Given the description of an element on the screen output the (x, y) to click on. 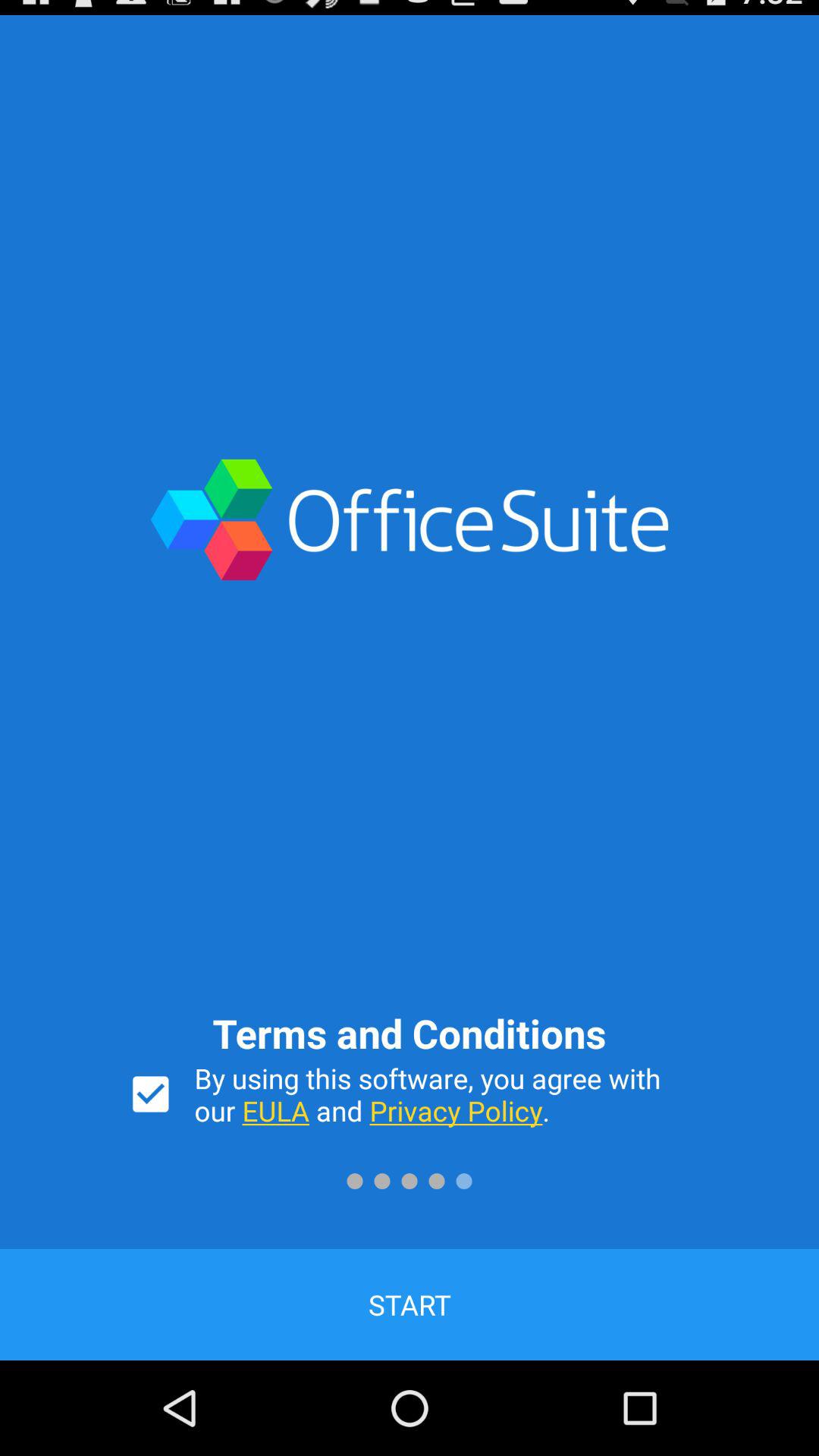
flip to the by using this (443, 1094)
